Given the description of an element on the screen output the (x, y) to click on. 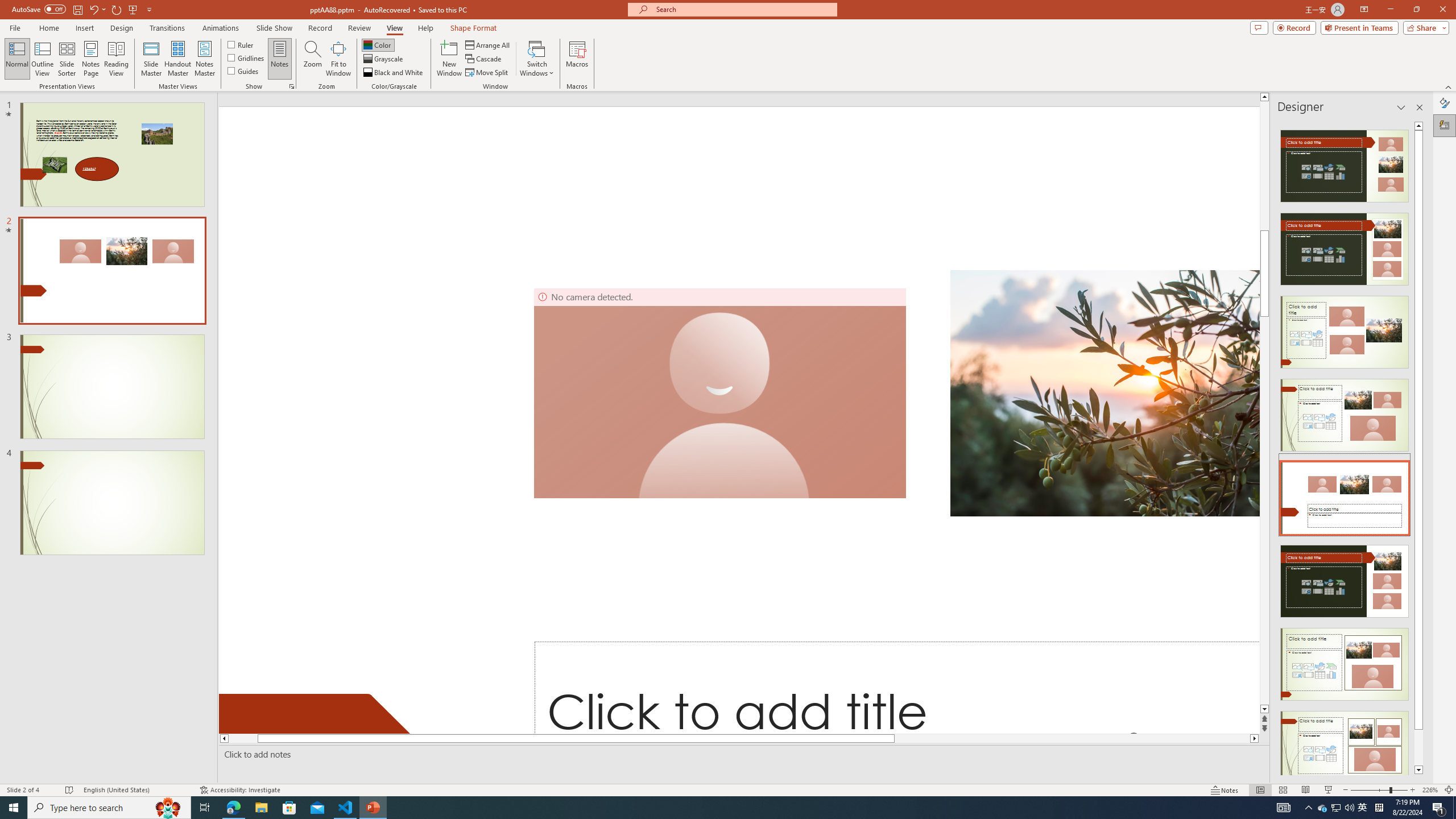
Macros (576, 58)
Notes (279, 58)
Notes Master (204, 58)
New Window (449, 58)
